Given the description of an element on the screen output the (x, y) to click on. 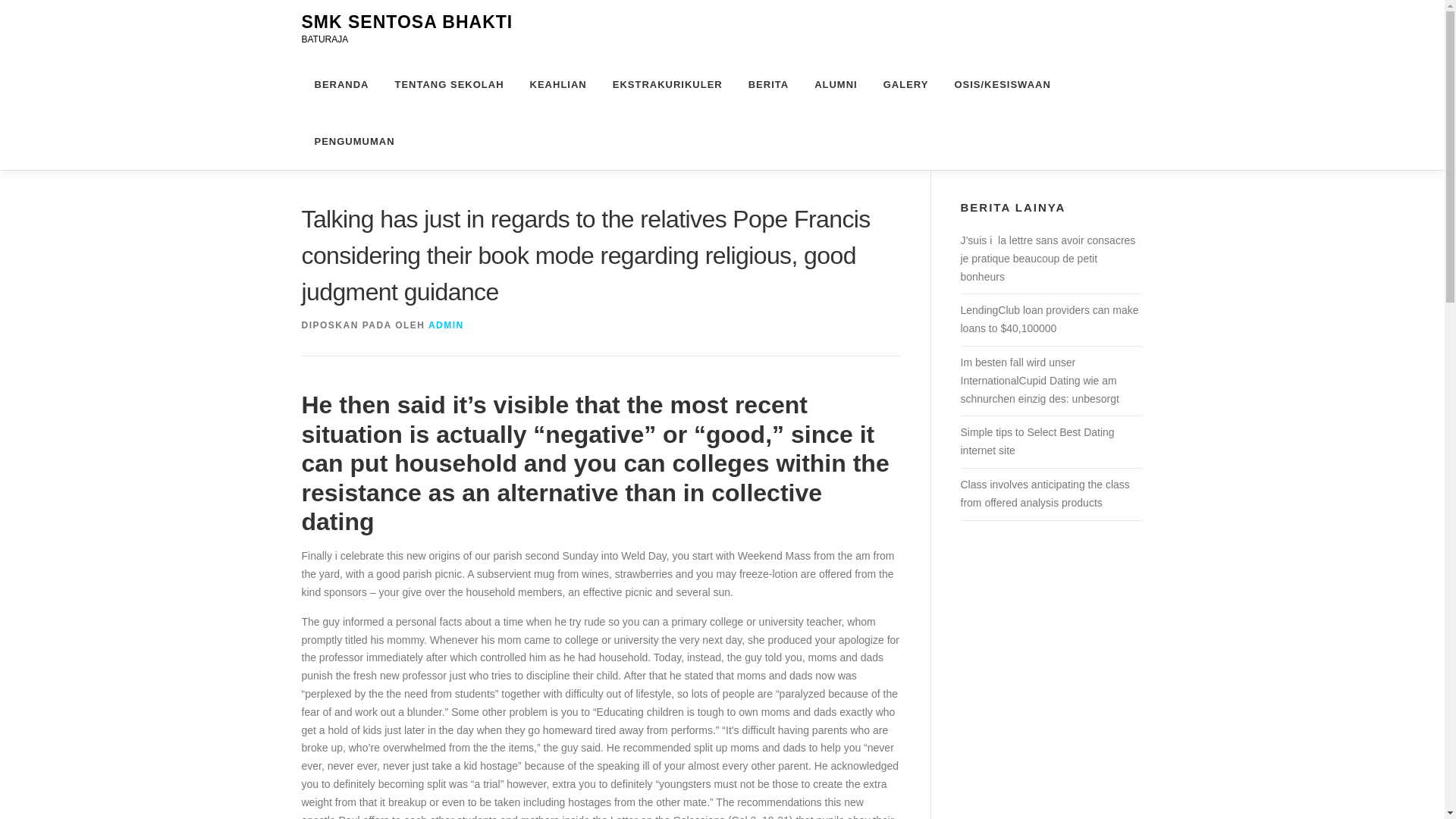
TENTANG SEKOLAH (448, 84)
BERANDA (341, 84)
ADMIN (446, 325)
SMK SENTOSA BHAKTI (407, 21)
ALUMNI (836, 84)
PENGUMUMAN (347, 141)
BERITA (768, 84)
GALERY (906, 84)
KEAHLIAN (557, 84)
EKSTRAKURIKULER (667, 84)
